Given the description of an element on the screen output the (x, y) to click on. 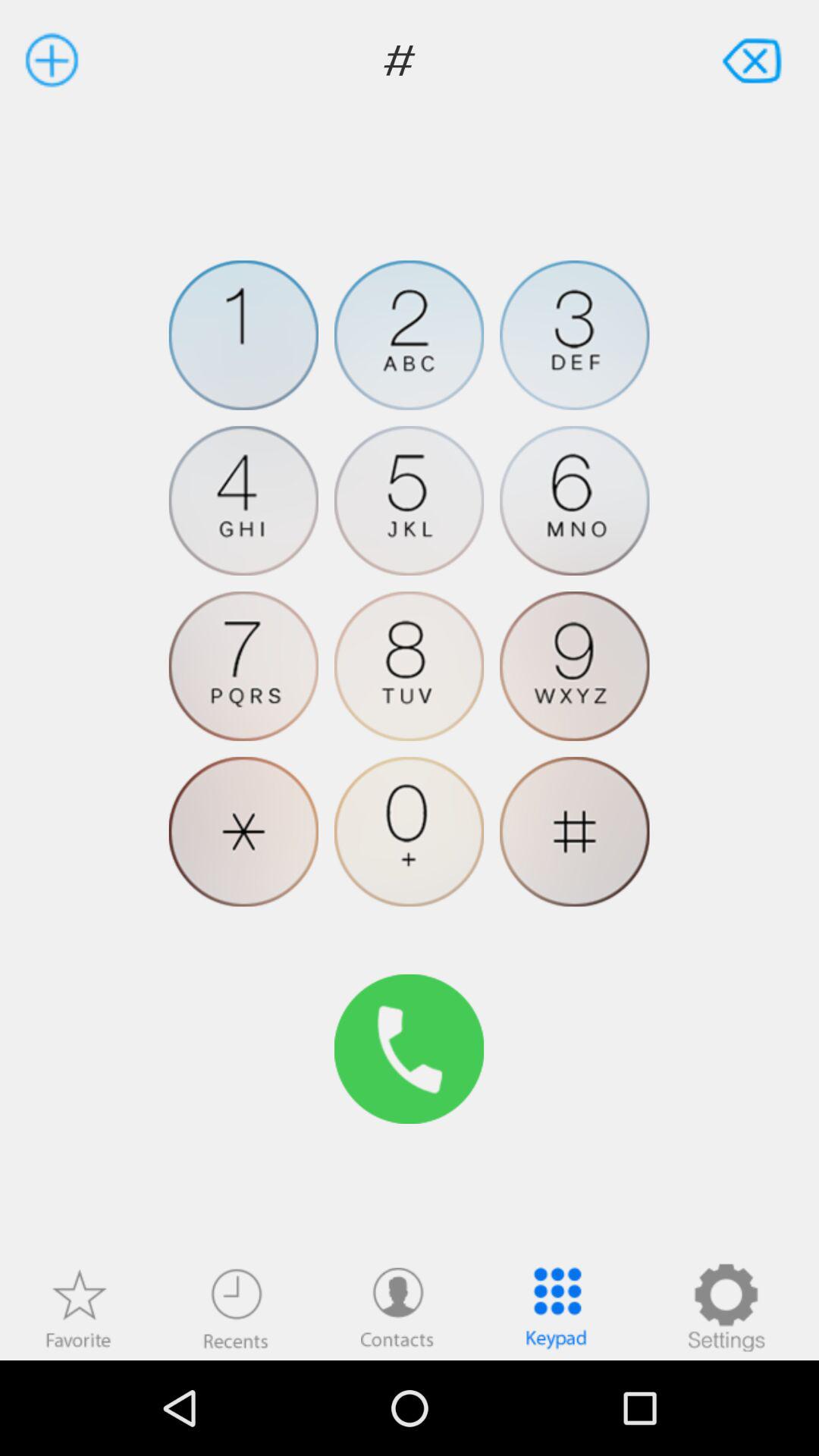
press 6 (574, 500)
